Given the description of an element on the screen output the (x, y) to click on. 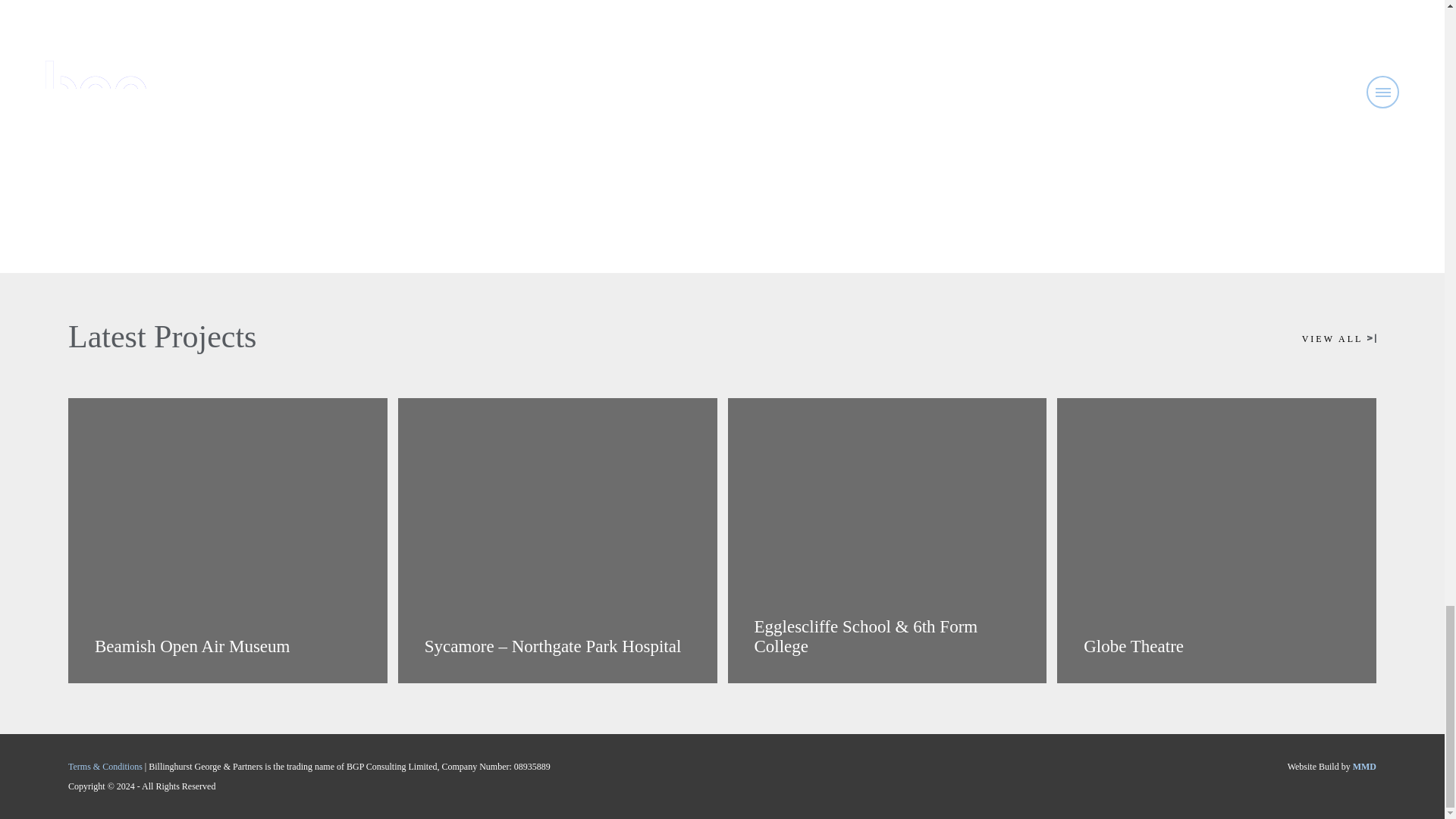
MMD (1363, 766)
Globe Theatre (1216, 540)
VIEW ALL (1338, 338)
Beamish Open Air Museum (227, 540)
